Given the description of an element on the screen output the (x, y) to click on. 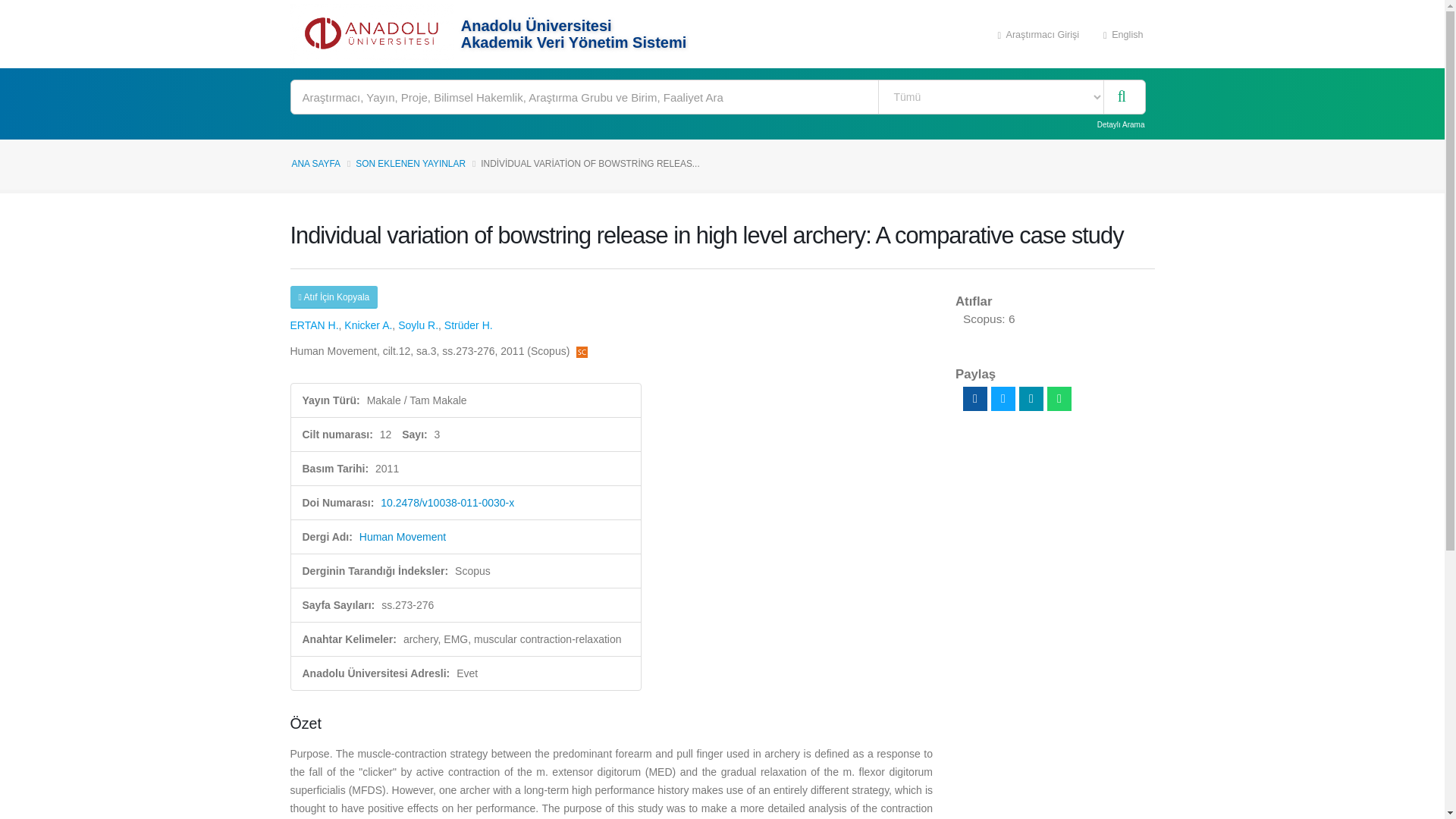
Knicker A. (367, 325)
ANA SAYFA (315, 163)
Ruhi Soylu (417, 325)
SON EKLENEN YAYINLAR (410, 163)
English (1123, 33)
Soylu R. (417, 325)
Human Movement (402, 536)
Axel Knicker (367, 325)
ERTAN H. (313, 325)
